Given the description of an element on the screen output the (x, y) to click on. 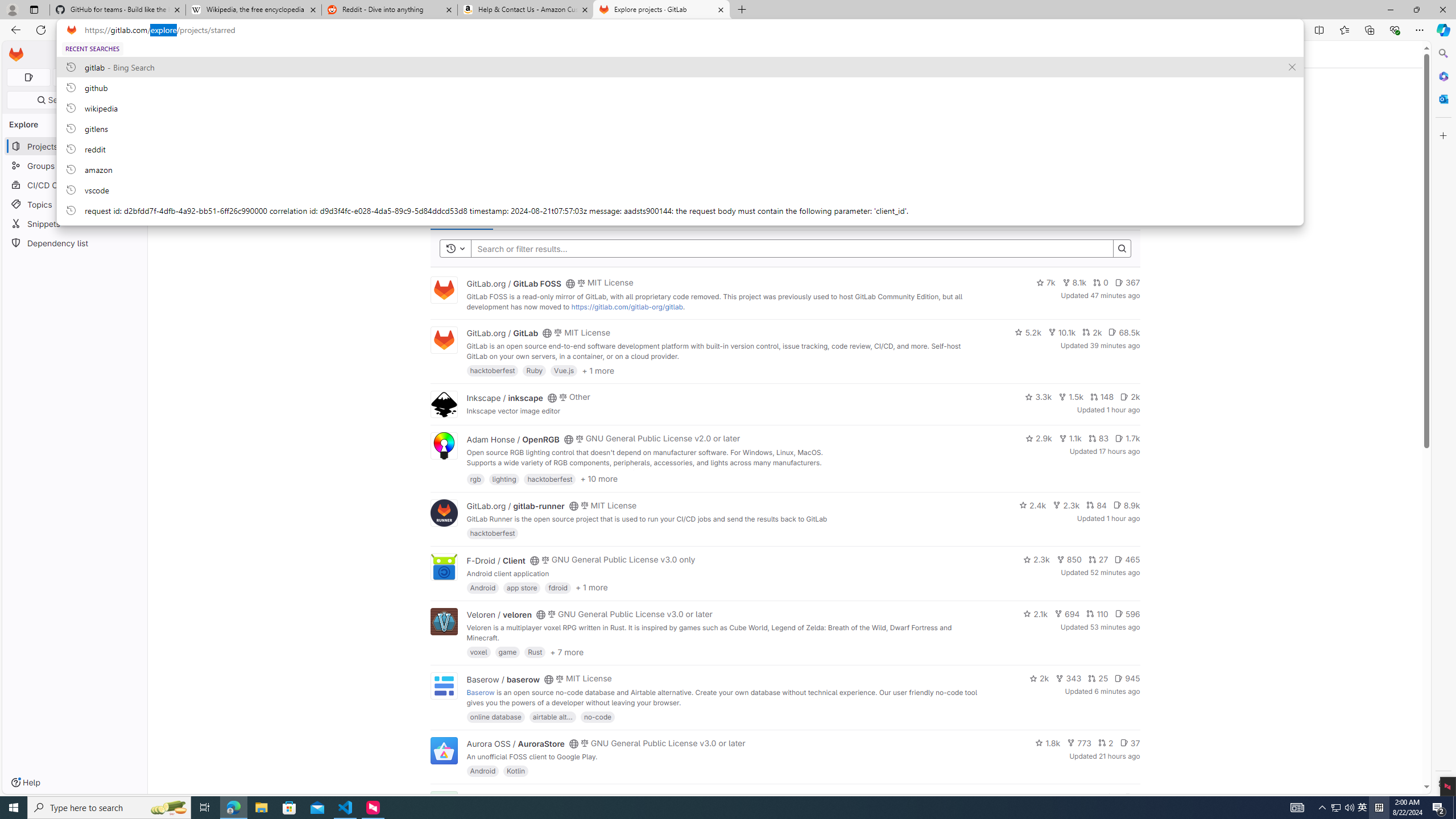
Baserow (480, 691)
Class: s16 gl-icon gl-button-icon  (1127, 93)
Baserow / baserow (502, 678)
1.5k (1070, 396)
8.9k (1126, 504)
5.2k (1027, 331)
Inkscape / inkscape (504, 397)
Inactive (598, 216)
596 (1127, 613)
Class: s14 gl-mr-2 (1128, 796)
Android (482, 770)
2.1k (1035, 613)
